Given the description of an element on the screen output the (x, y) to click on. 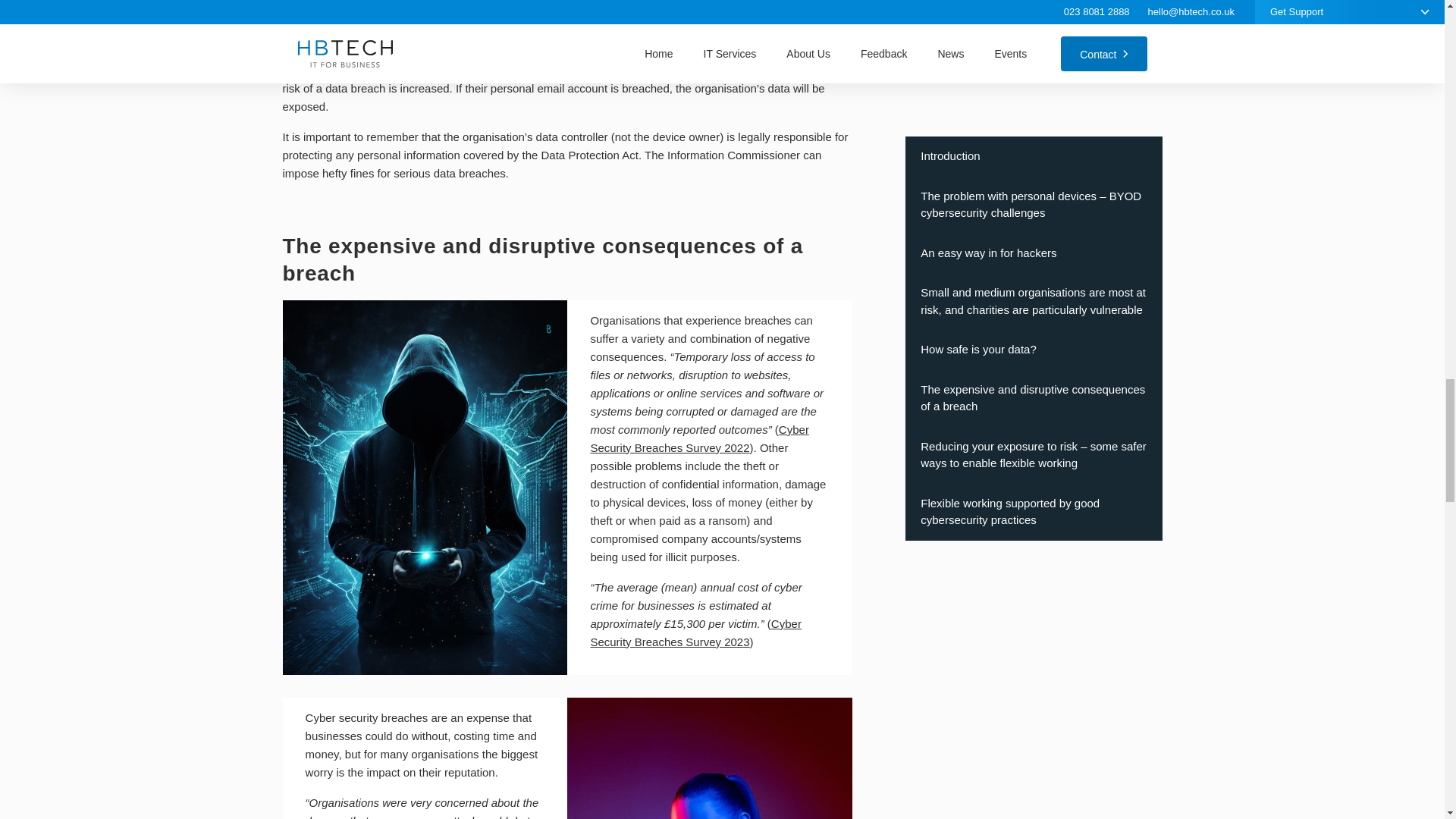
Cyber Security Breaches Survey 2022 (698, 438)
Cyber Security Breaches Survey 2023 (694, 632)
